Given the description of an element on the screen output the (x, y) to click on. 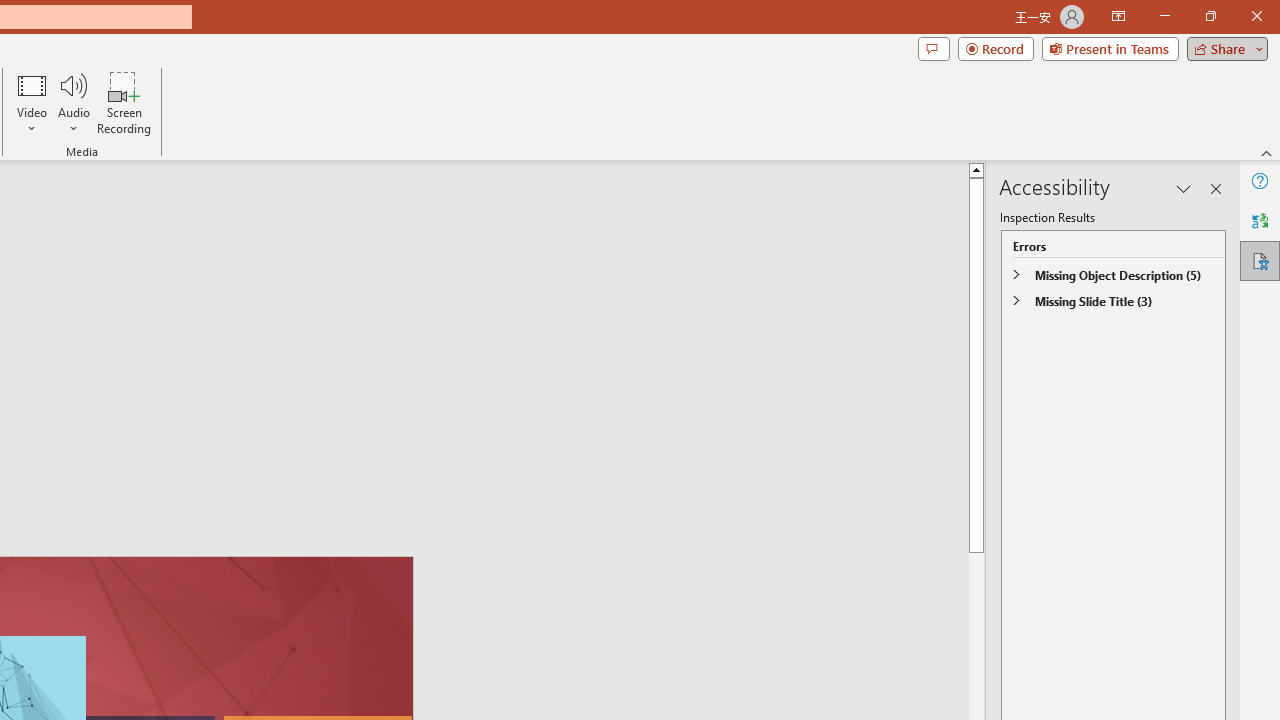
Screen Recording... (123, 102)
